Given the description of an element on the screen output the (x, y) to click on. 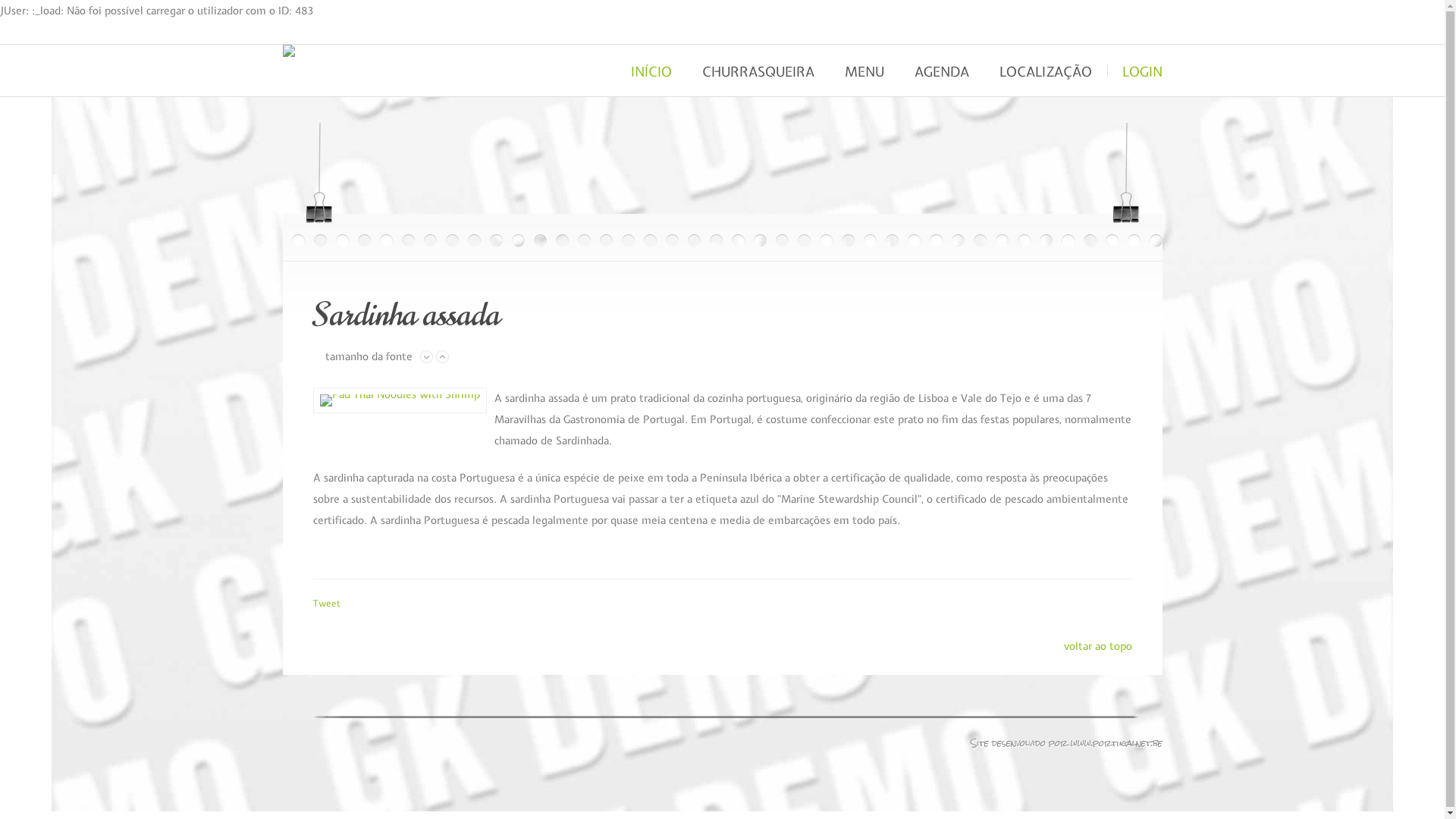
CHURRASQUEIRA Element type: text (758, 70)
aumentar o tamanho da fonte Element type: text (441, 356)
Tweet Element type: text (325, 603)
LOGIN Element type: text (1134, 70)
Clicar para ver imagem Element type: hover (400, 400)
diminuir o tamanho da fonte Element type: text (426, 356)
MENU Element type: text (864, 70)
AGENDA Element type: text (941, 70)
voltar ao topo Element type: text (1097, 645)
